Given the description of an element on the screen output the (x, y) to click on. 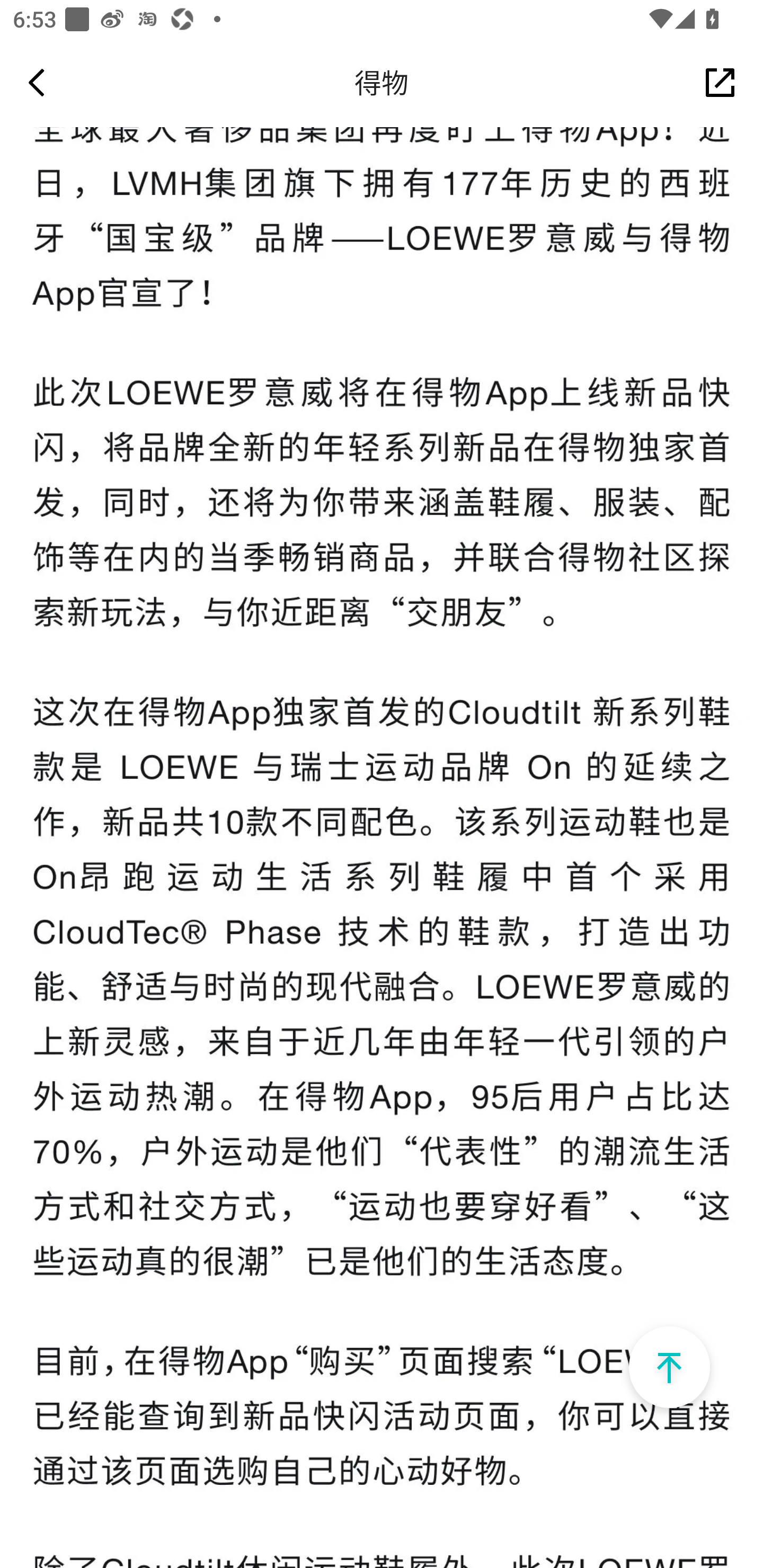
Navigate up (36, 82)
6D55FA48-FAD7-451B-BF60-91C611CA9B14@1x (668, 1367)
